Given the description of an element on the screen output the (x, y) to click on. 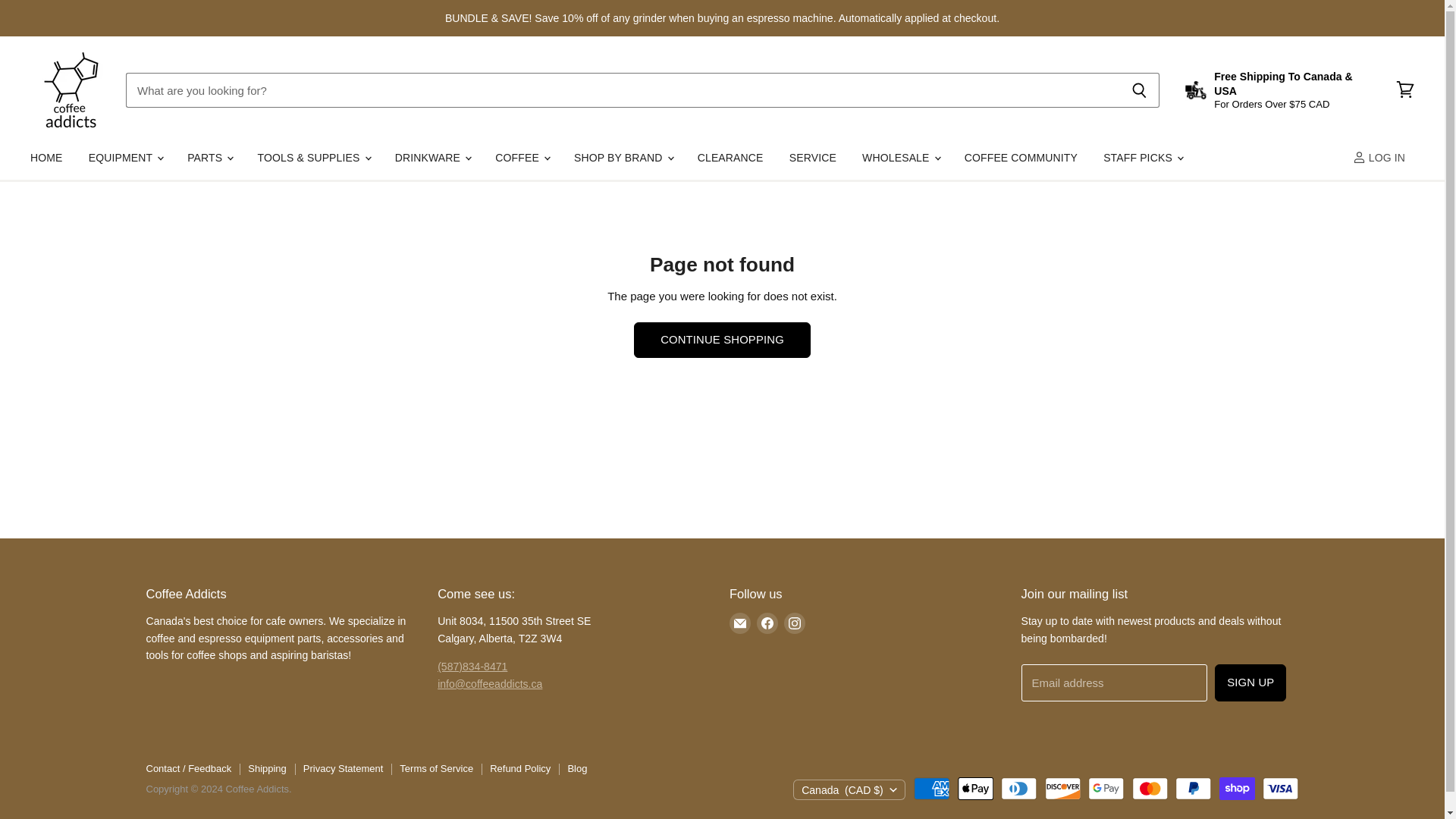
View cart (1405, 89)
Facebook (767, 623)
EQUIPMENT (125, 157)
E-mail (740, 623)
ACCOUNT ICON (1358, 156)
Instagram (794, 623)
HOME (46, 157)
